Given the description of an element on the screen output the (x, y) to click on. 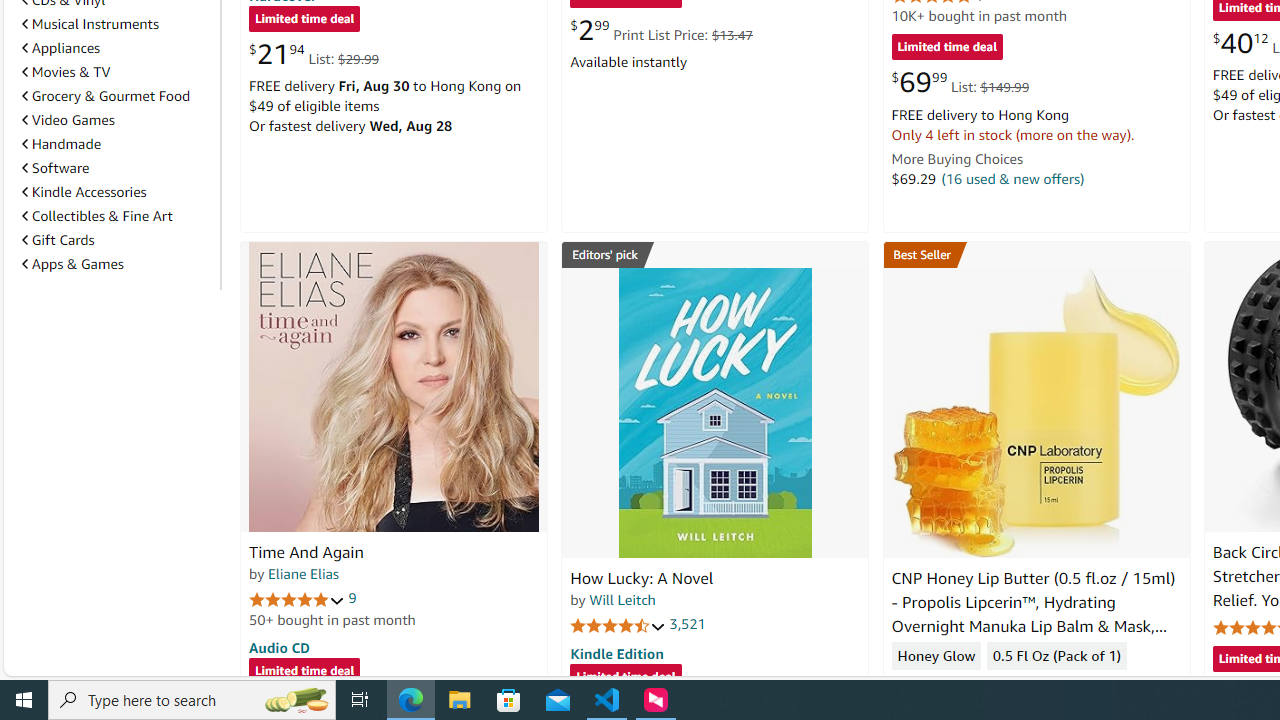
Best Seller in Lip Butters (1036, 254)
Kindle Accessories (84, 191)
Editors' pick Best Mystery, Thriller & Suspense (715, 254)
How Lucky: A Novel (641, 578)
Movies & TV (117, 71)
Software (117, 167)
Gift Cards (117, 239)
Video Games (68, 119)
5.0 out of 5 stars (297, 598)
Audio CD (279, 646)
(16 used & new offers) (1012, 178)
Movies & TV (66, 71)
4.3 out of 5 stars (939, 685)
3,521 (687, 624)
